Given the description of an element on the screen output the (x, y) to click on. 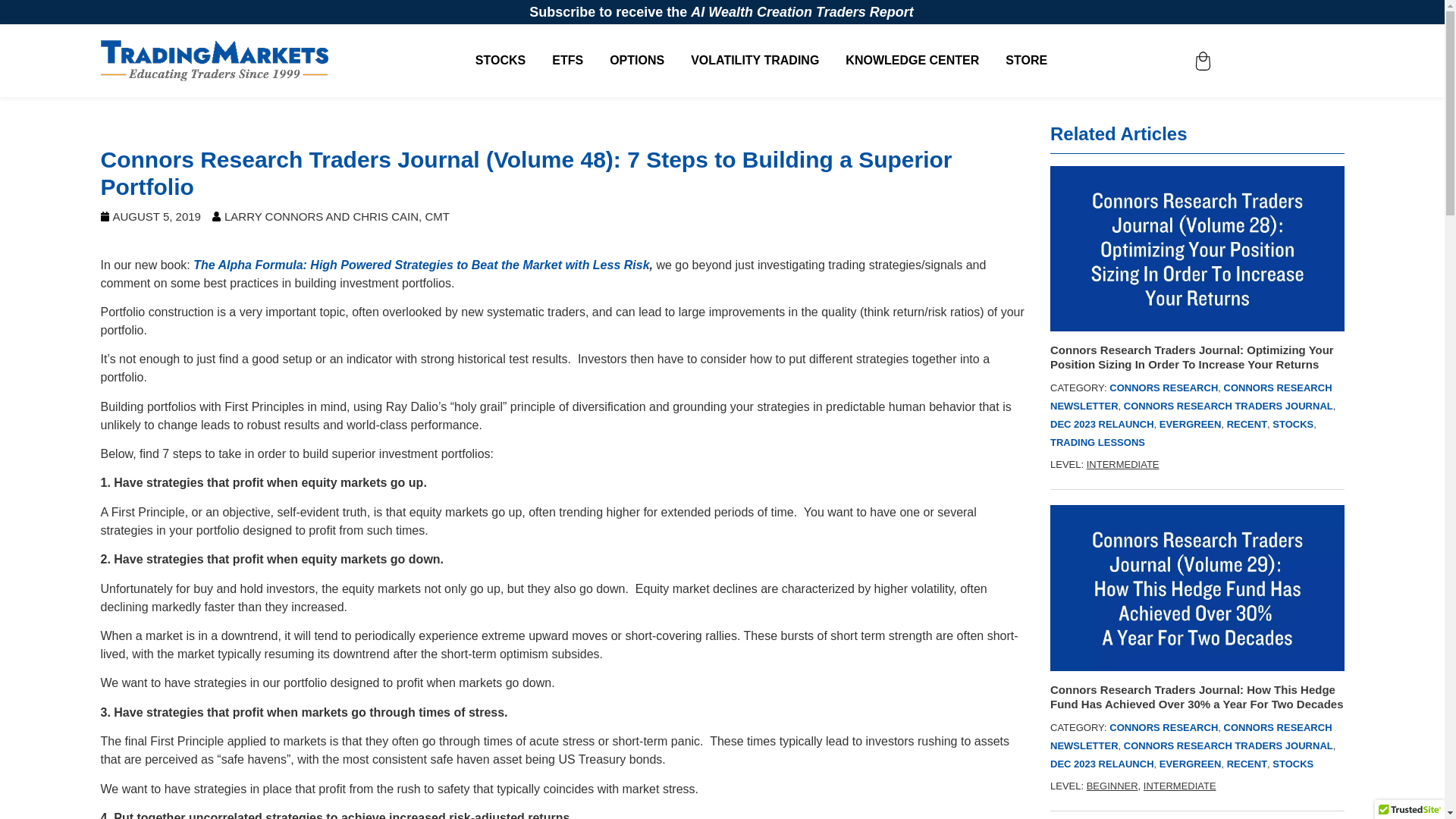
CONNORS RESEARCH TRADERS JOURNAL (1228, 405)
VOLATILITY TRADING (754, 60)
RECENT (1246, 423)
Subscribe to receive the AI Wealth Creation Traders Report (722, 11)
EVERGREEN (1189, 423)
DEC 2023 RELAUNCH (1101, 423)
INTERMEDIATE (1122, 464)
TRADING LESSONS (1096, 441)
STOCKS (1292, 423)
KNOWLEDGE CENTER (911, 60)
CONNORS RESEARCH TRADERS JOURNAL (1228, 745)
CONNORS RESEARCH NEWSLETTER (1190, 396)
CONNORS RESEARCH NEWSLETTER (1190, 736)
